Given the description of an element on the screen output the (x, y) to click on. 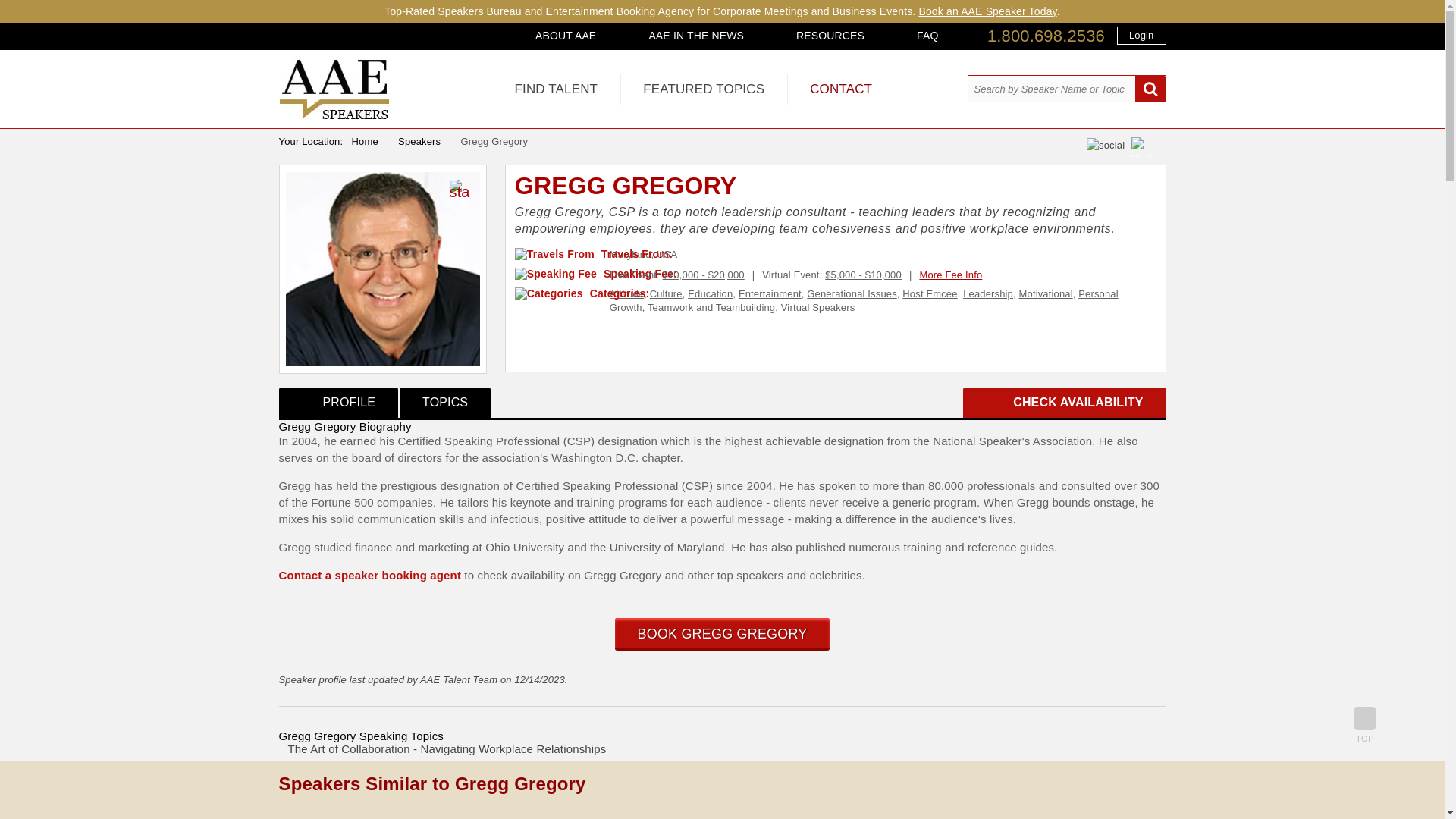
All American Speakers Bureau and Celebrity Booking Agency (334, 115)
Search (1150, 89)
Book an AAE Speaker Today (987, 10)
1.800.698.2536 (1046, 35)
Login (1141, 35)
ABOUT AAE (565, 34)
RESOURCES (829, 34)
AAE IN THE NEWS (695, 34)
FAQ (927, 34)
